Given the description of an element on the screen output the (x, y) to click on. 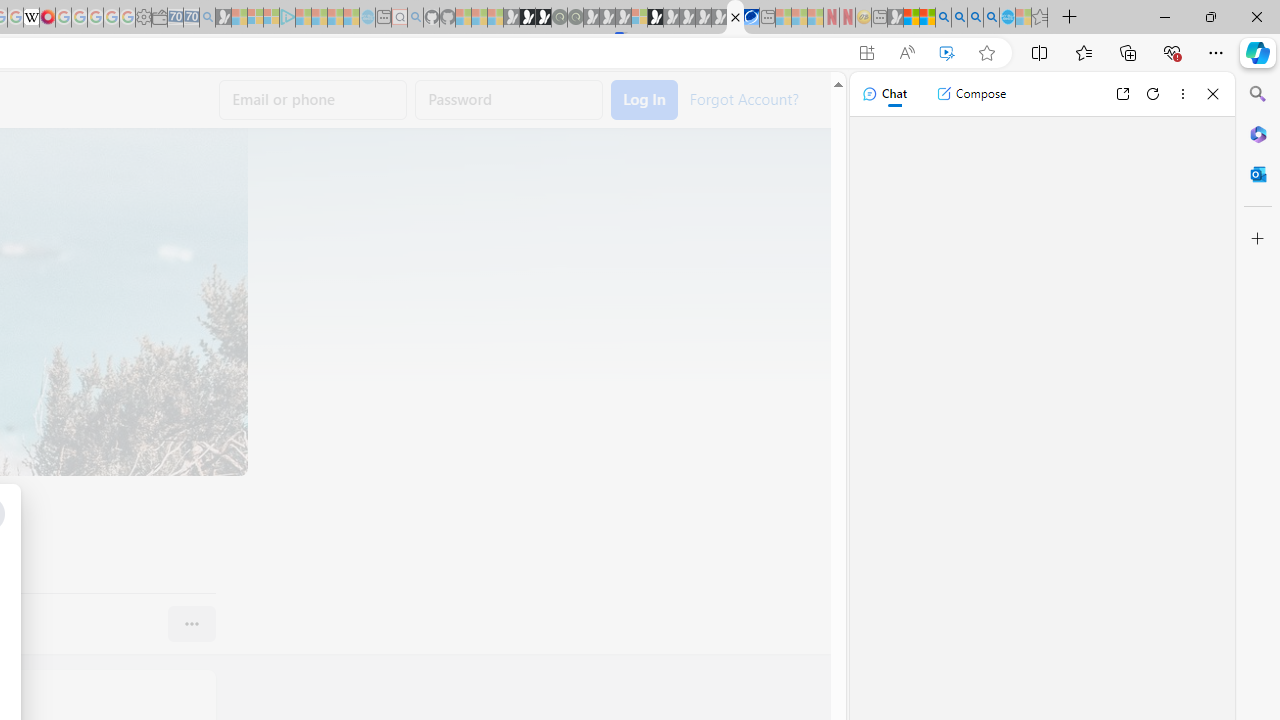
Accessible login button (644, 99)
